Given the description of an element on the screen output the (x, y) to click on. 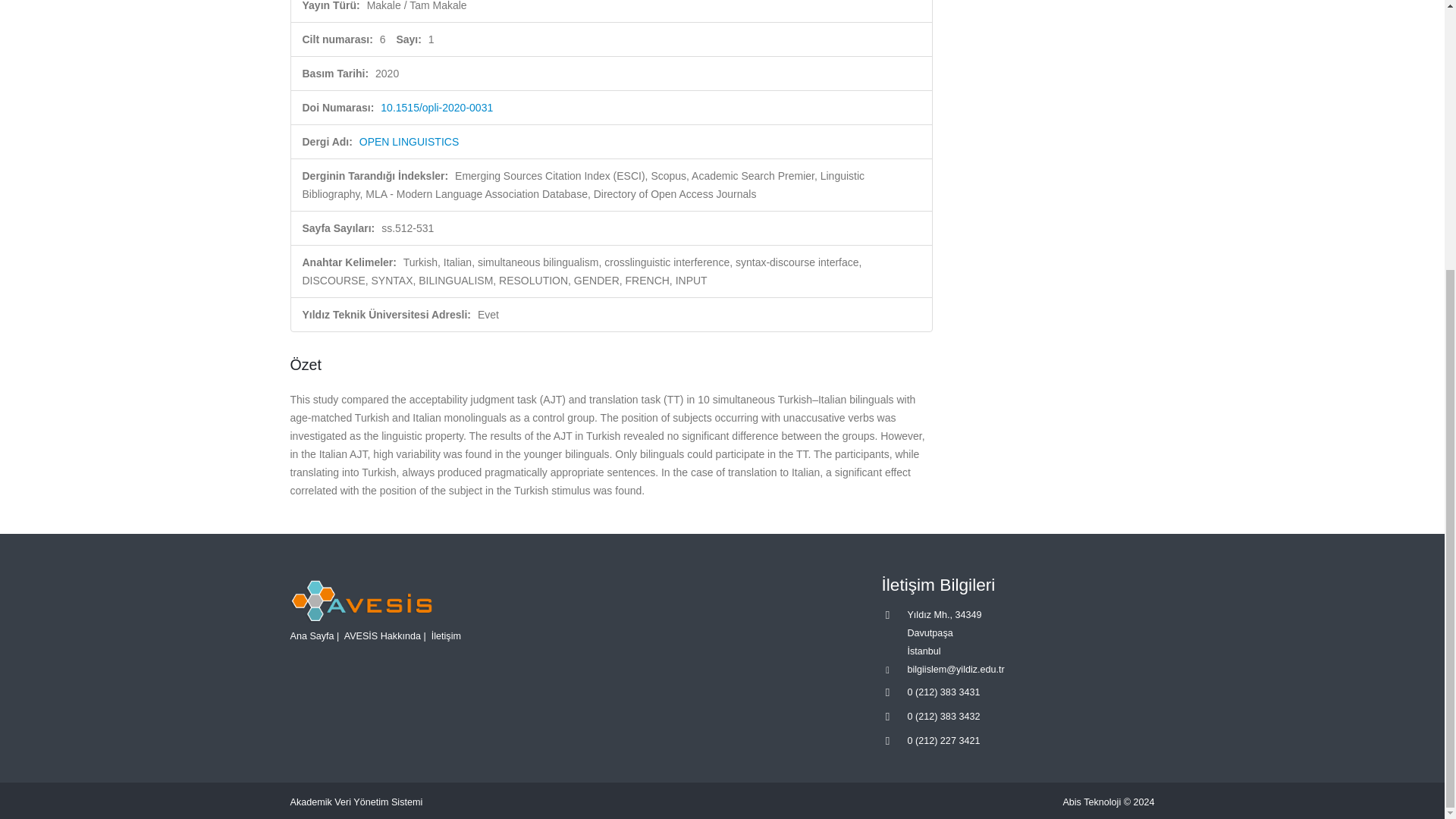
Abis Teknoloji (1091, 801)
Ana Sayfa (311, 635)
OPEN LINGUISTICS (408, 141)
